Given the description of an element on the screen output the (x, y) to click on. 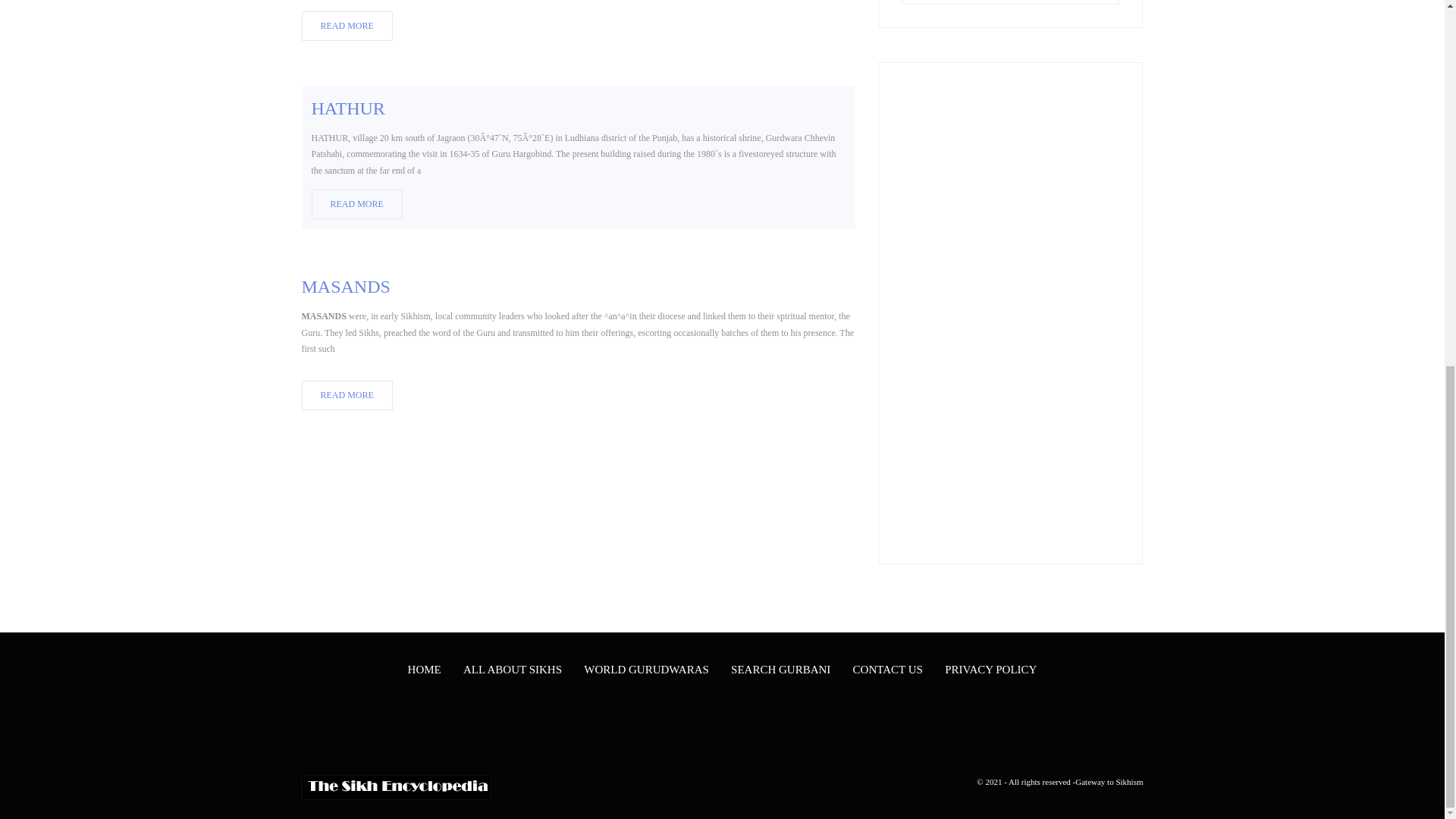
Read More (356, 204)
Read More (347, 26)
The Sikh Encyclopedia (396, 787)
HATHUR (347, 107)
MASANDS (345, 286)
Read More (347, 395)
